Given the description of an element on the screen output the (x, y) to click on. 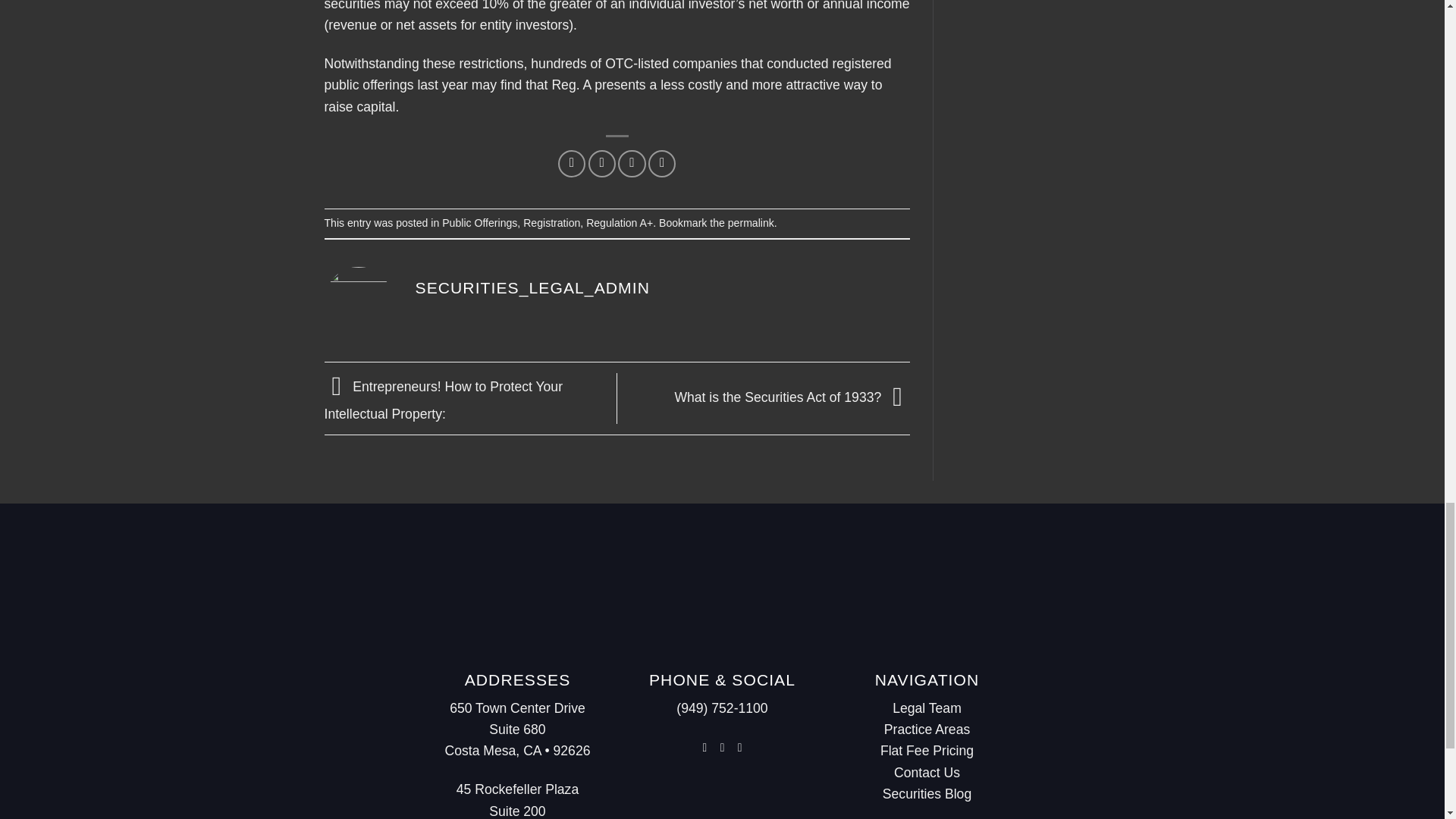
permalink (751, 223)
Email to a Friend (631, 163)
Public Offerings (479, 223)
What is the Securities Act of 1933? (792, 396)
Entrepreneurs! How to Protect Your Intellectual Property: (443, 400)
Share on Twitter (601, 163)
Share on Facebook (571, 163)
Registration (550, 223)
Share on LinkedIn (661, 163)
